Given the description of an element on the screen output the (x, y) to click on. 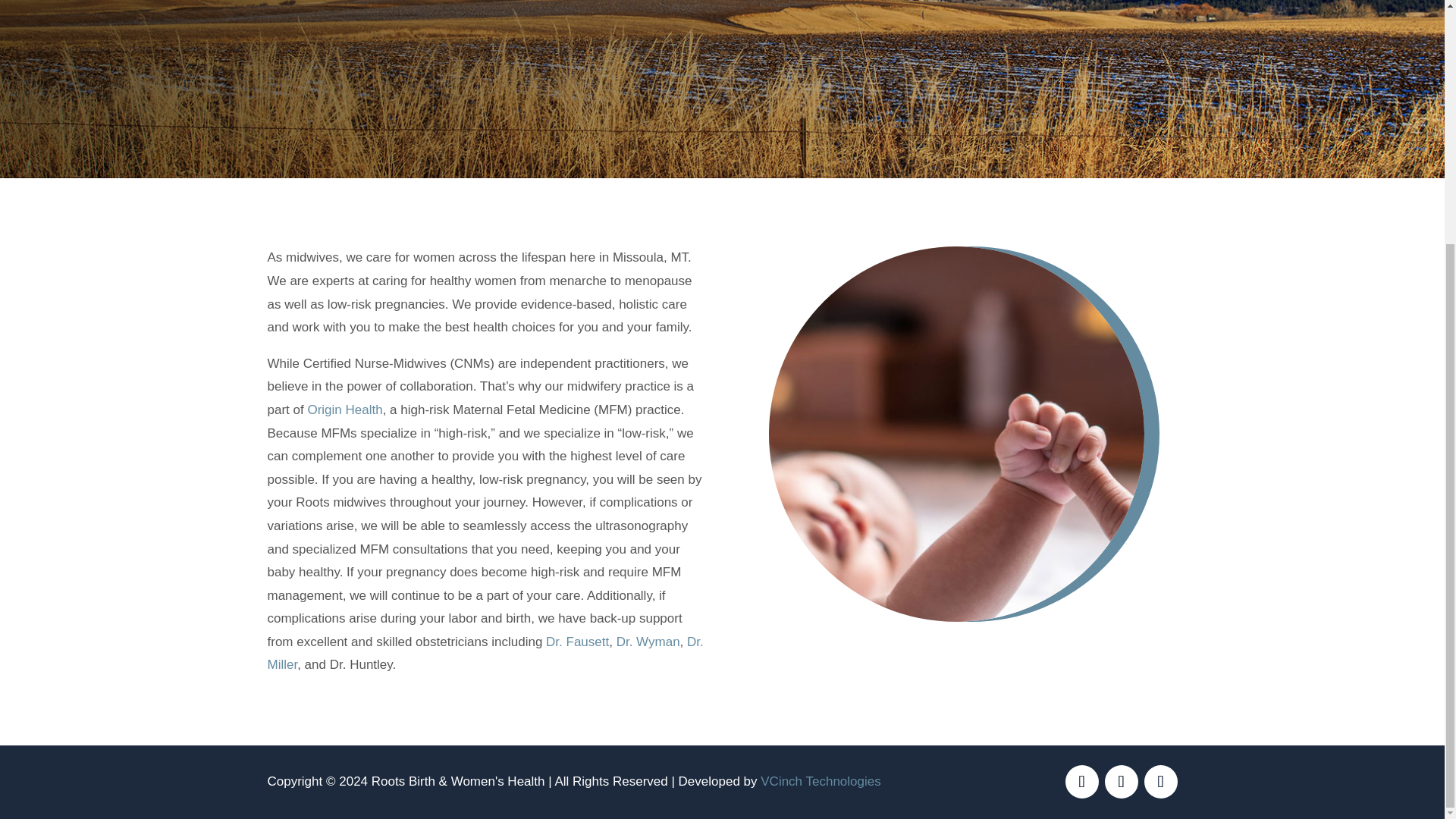
Follow on Instagram (1120, 781)
Follow on Facebook (1080, 781)
Origin Health (344, 409)
Follow on Youtube (1159, 781)
